Given the description of an element on the screen output the (x, y) to click on. 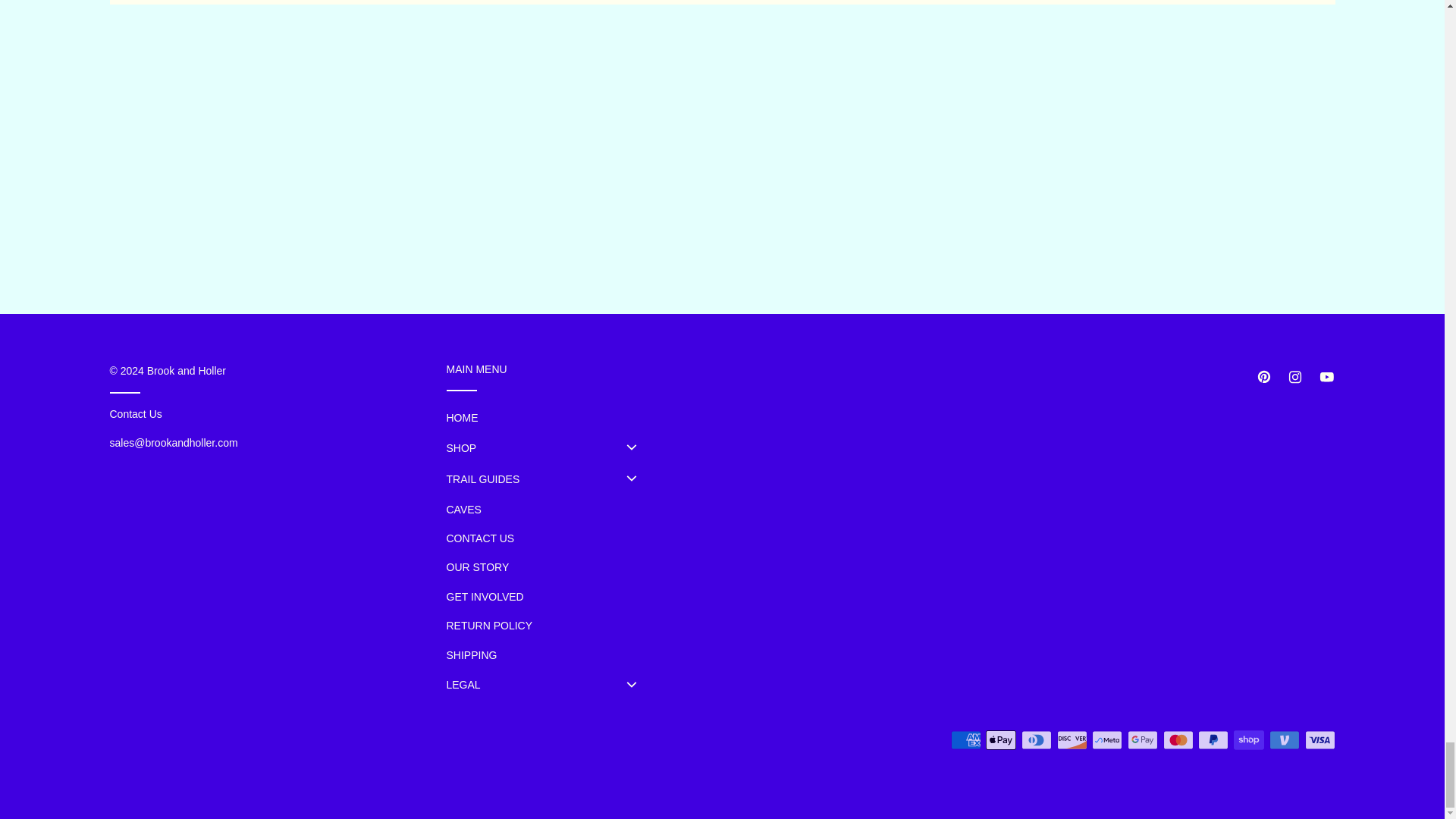
American Express (965, 739)
Google Pay (1141, 739)
Diners Club (1036, 739)
Discover (1072, 739)
Brook and Holler  on Instagram (1295, 376)
Brook and Holler  on YouTube (1326, 376)
Brook and Holler  on Pinterest (1263, 376)
Meta Pay (1107, 739)
Apple Pay (1000, 739)
